Given the description of an element on the screen output the (x, y) to click on. 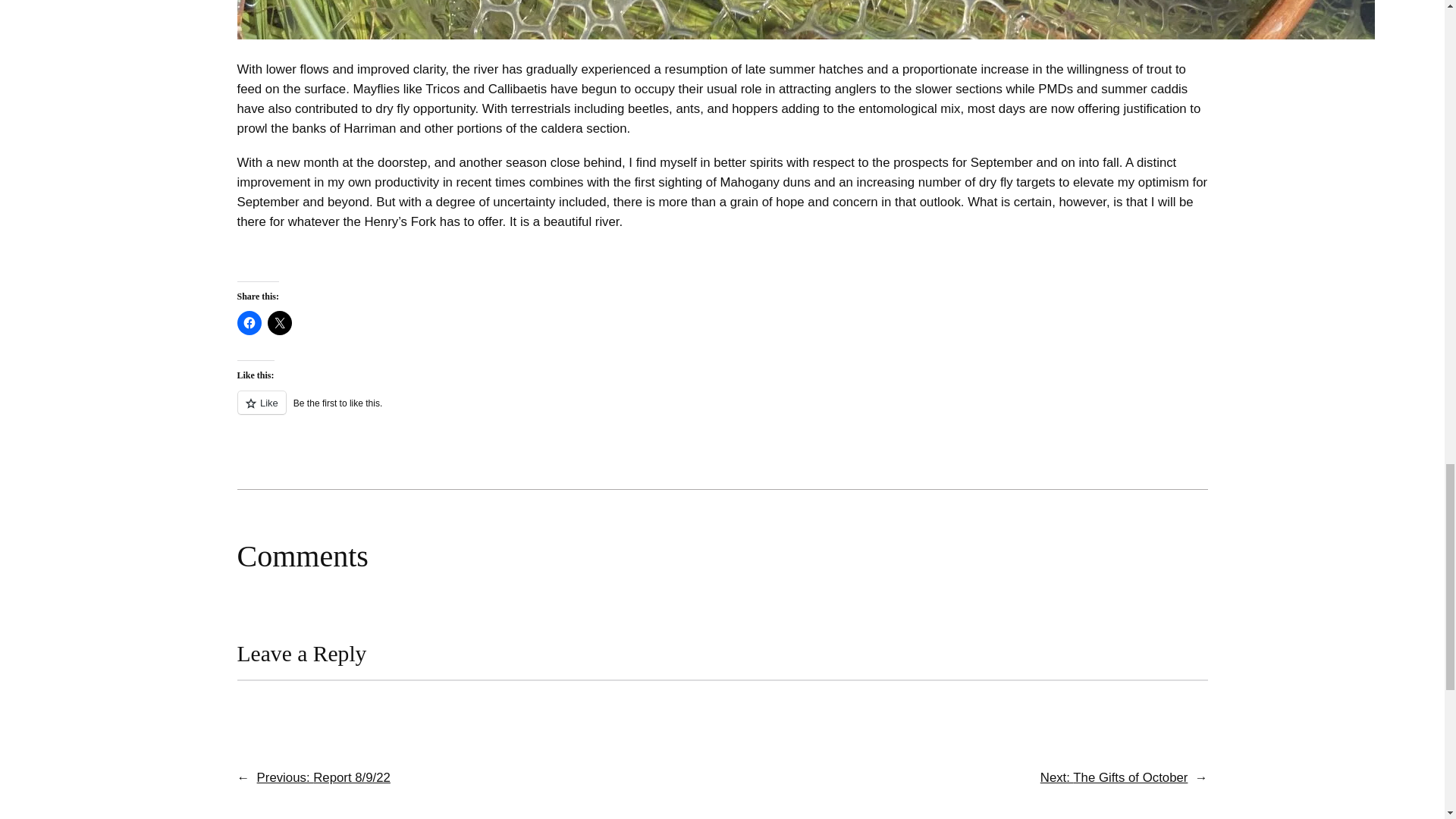
Click to share on Facebook (247, 322)
Like or Reblog (721, 411)
Click to share on X (278, 322)
